Given the description of an element on the screen output the (x, y) to click on. 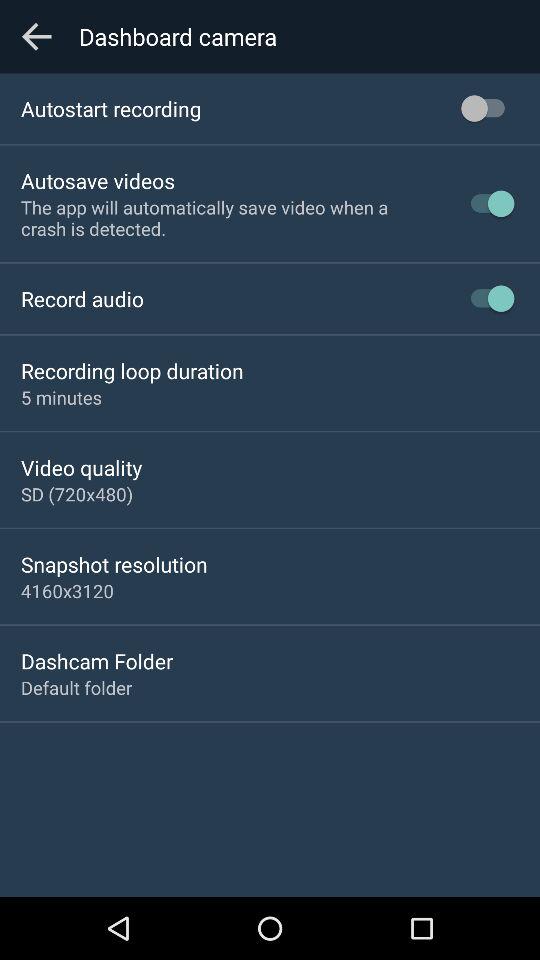
swipe until default folder (76, 687)
